Given the description of an element on the screen output the (x, y) to click on. 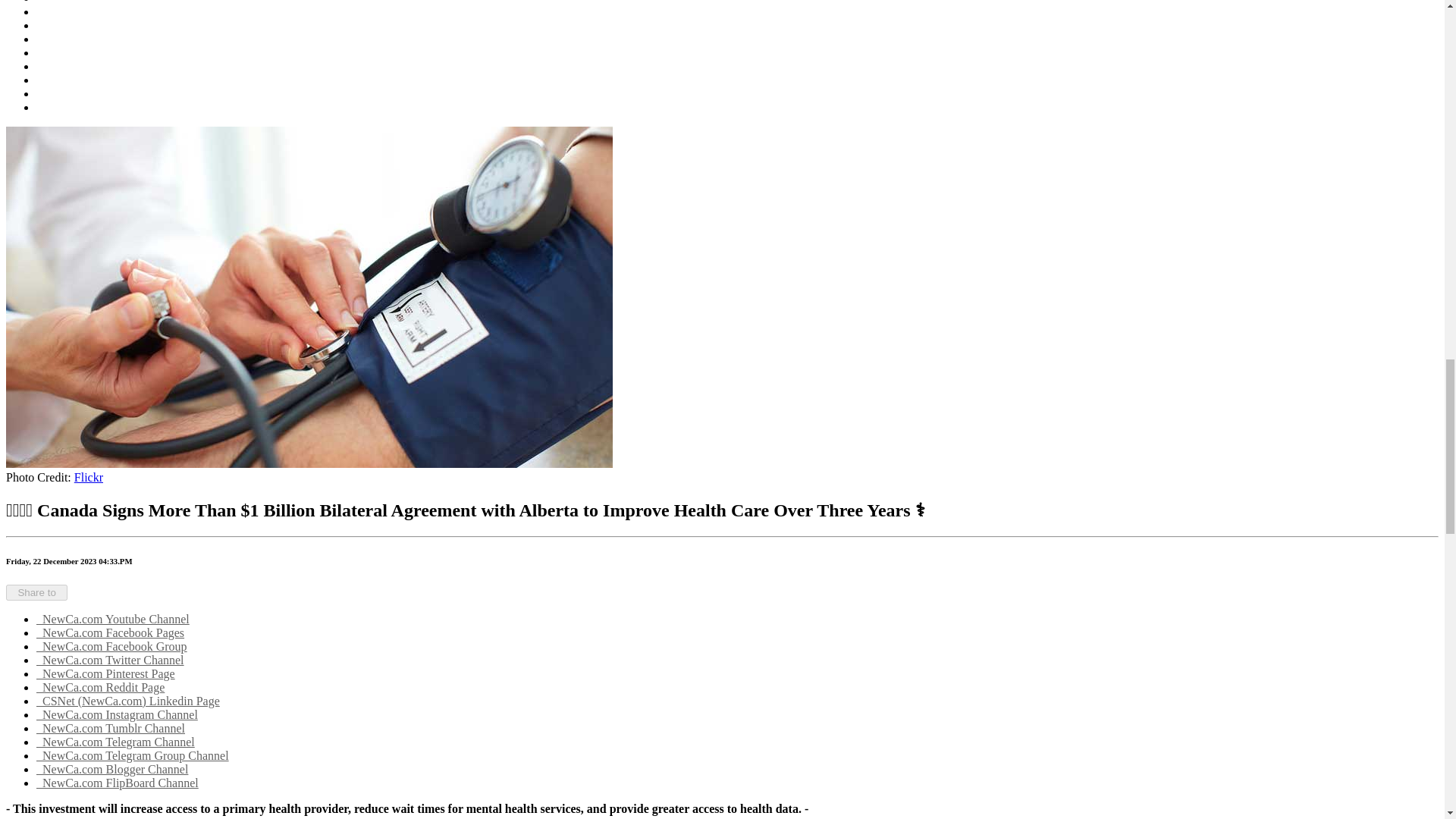
  NewCa.com Pinterest Page (105, 673)
 Share to Social Network  (35, 592)
  NewCa.com Facebook Group (111, 645)
  NewCa.com Reddit Page (100, 686)
  NewCa.com Twitter Channel (110, 659)
  NewCa.com Youtube Channel (112, 618)
  NewCa.com Facebook Pages (110, 632)
  Share to   (35, 592)
Flickr (88, 477)
